Given the description of an element on the screen output the (x, y) to click on. 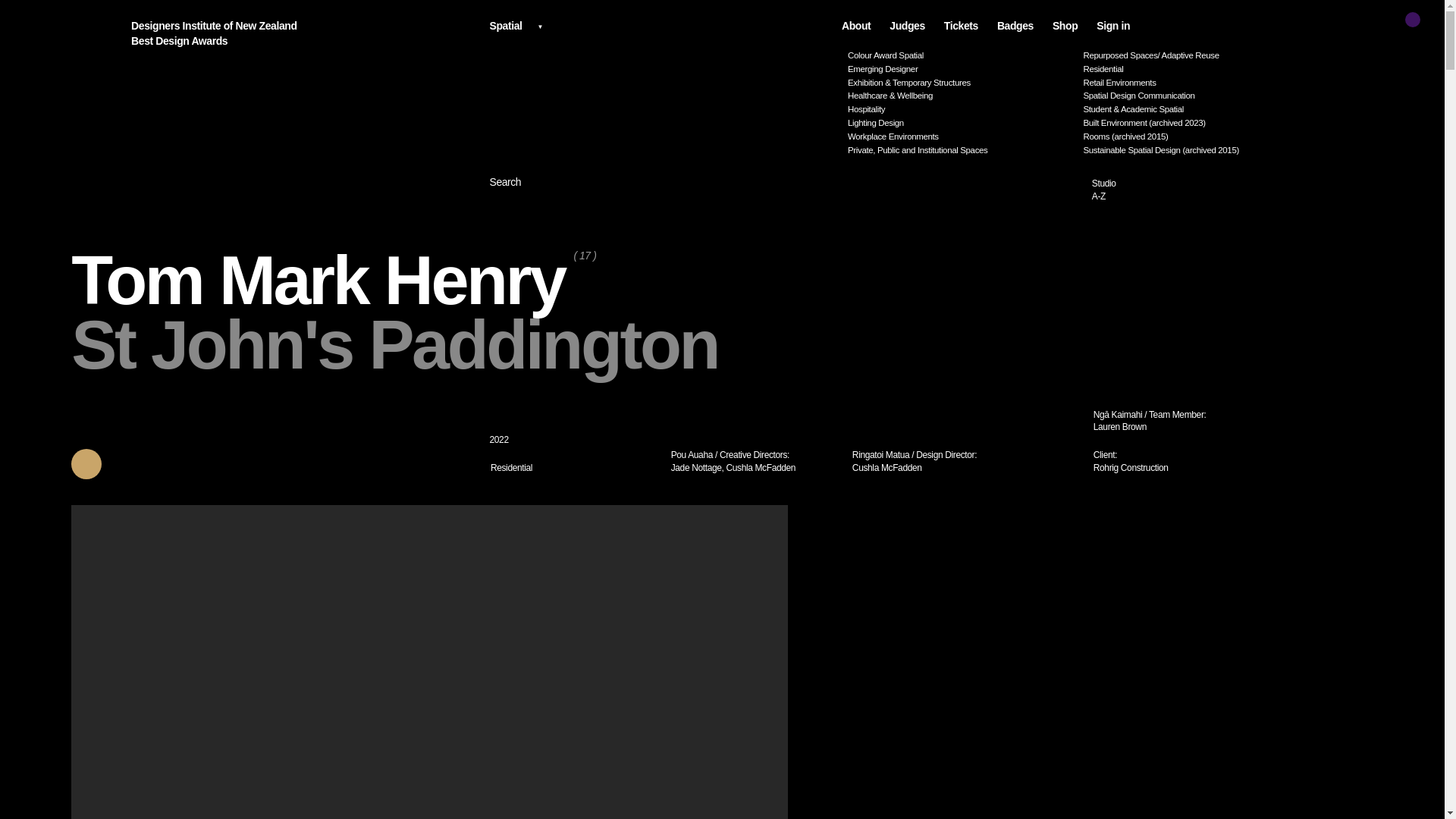
Shop (1064, 26)
Tickets (960, 26)
Residential (304, 33)
Spatial (574, 468)
Tom Mark Henry 17 (662, 24)
Workplace Environments (333, 280)
Spatial Design Communication (960, 136)
Judges (1195, 95)
Residential (906, 26)
Lighting Design (1195, 69)
About (960, 122)
2022 (855, 26)
Hospitality (1205, 190)
